Given the description of an element on the screen output the (x, y) to click on. 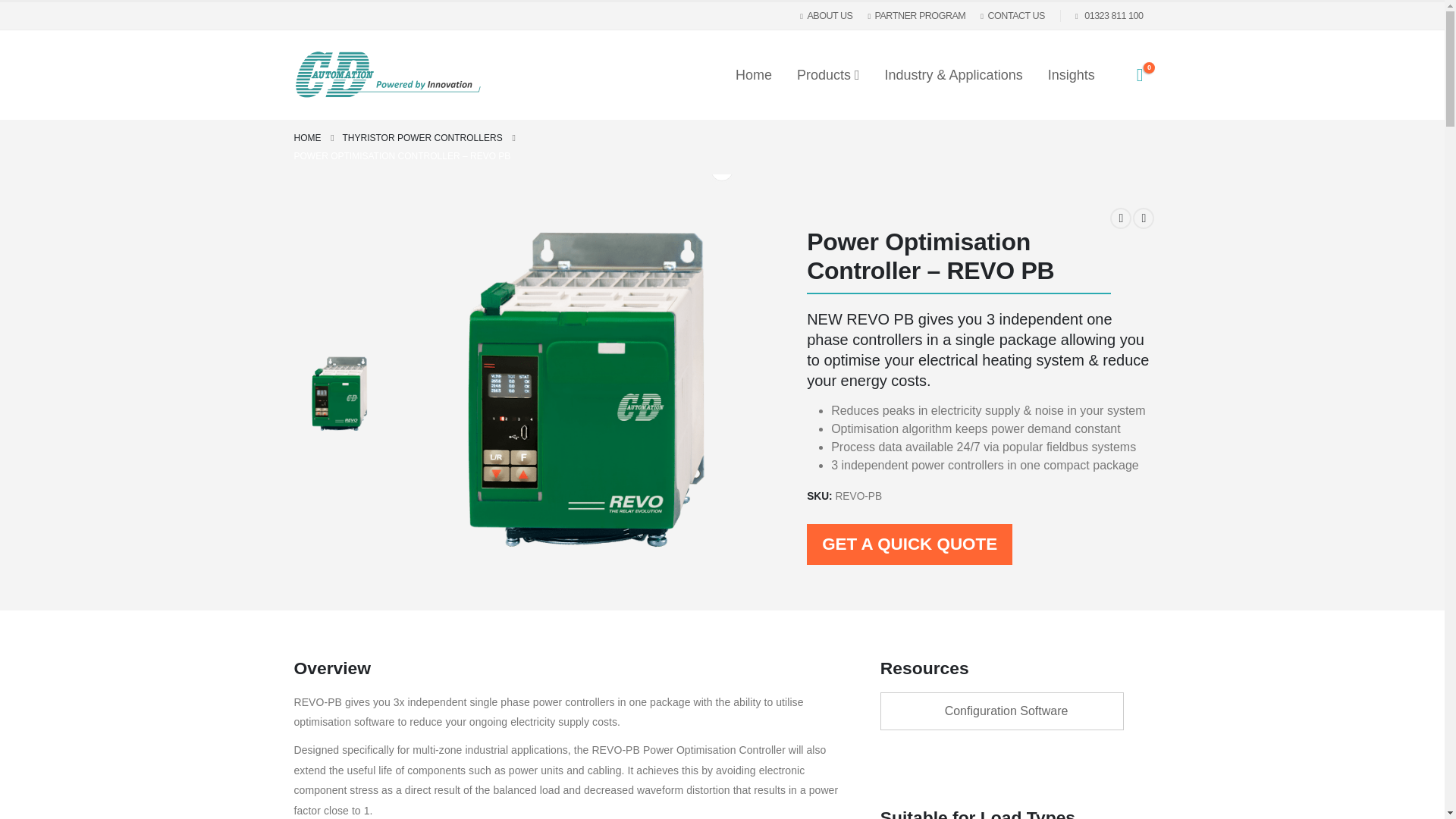
GET A QUICK QUOTE (908, 544)
ABOUT US (829, 15)
Insights (1070, 74)
REVO PB Power Optimisation Controller (339, 393)
PARTNER PROGRAM (916, 15)
Products (828, 74)
HOME (307, 137)
Configuration Software (1002, 711)
01323 811 100 (1111, 15)
